Given the description of an element on the screen output the (x, y) to click on. 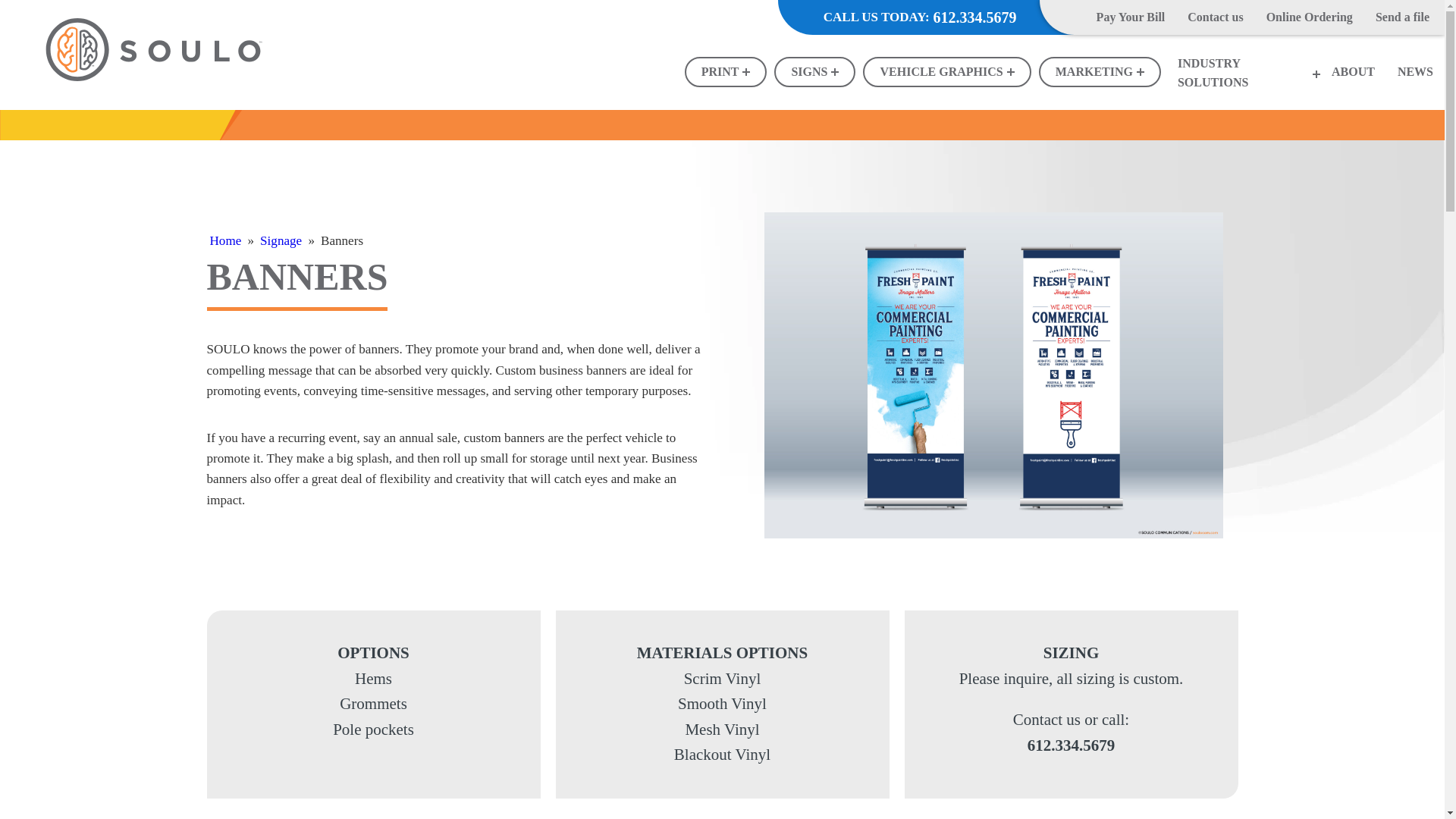
Breadcrumb link to Signage (280, 240)
Breadcrumb link to Home (225, 240)
